Given the description of an element on the screen output the (x, y) to click on. 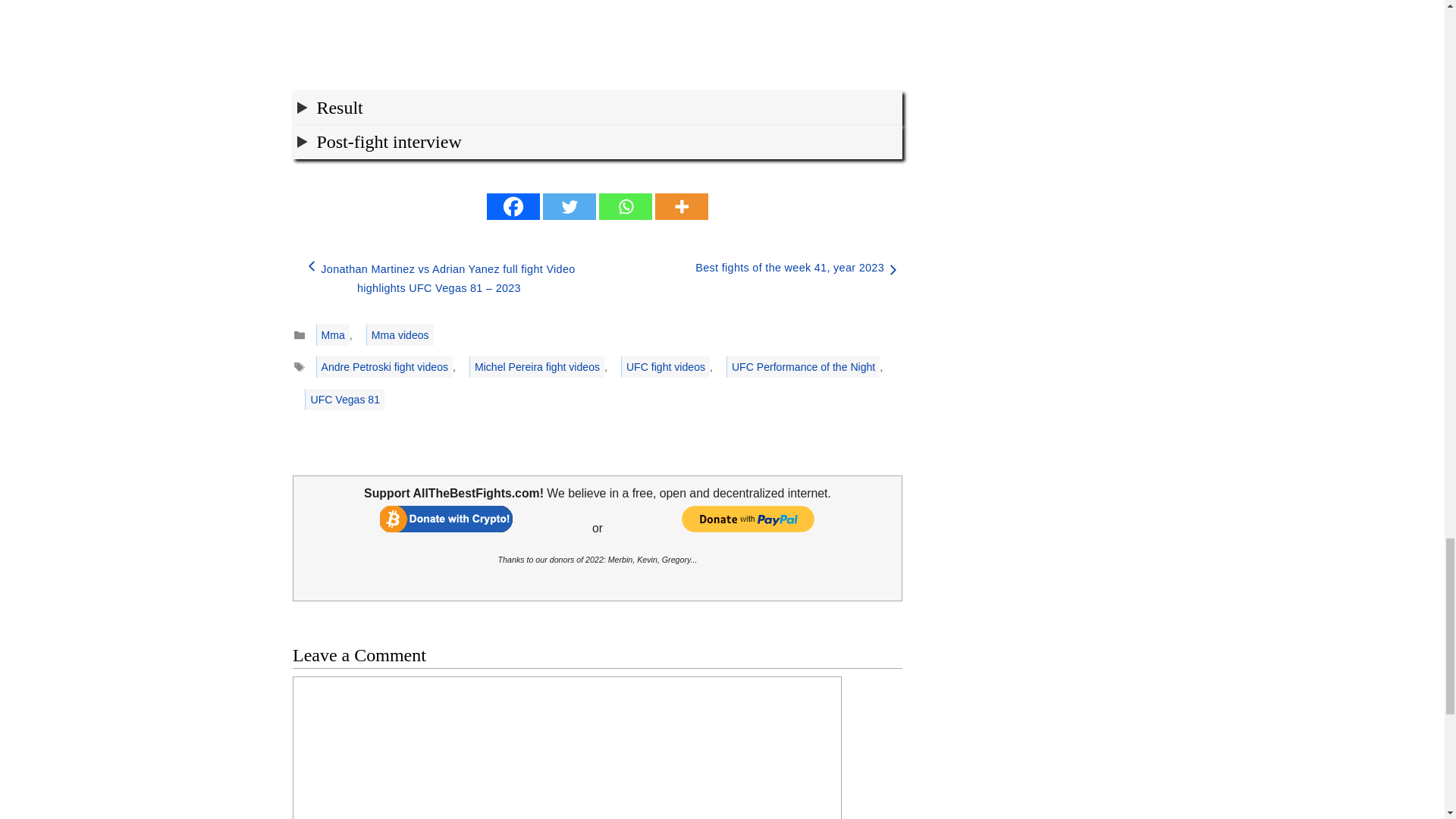
UFC fight videos (665, 366)
UFC Performance of the Night (802, 366)
Mma videos (399, 334)
Andre Petroski fight videos (383, 366)
Best fights of the week 41, year 2023 (789, 267)
Michel Pereira fight videos (536, 366)
UFC Vegas 81 (344, 399)
Mma (332, 334)
